Given the description of an element on the screen output the (x, y) to click on. 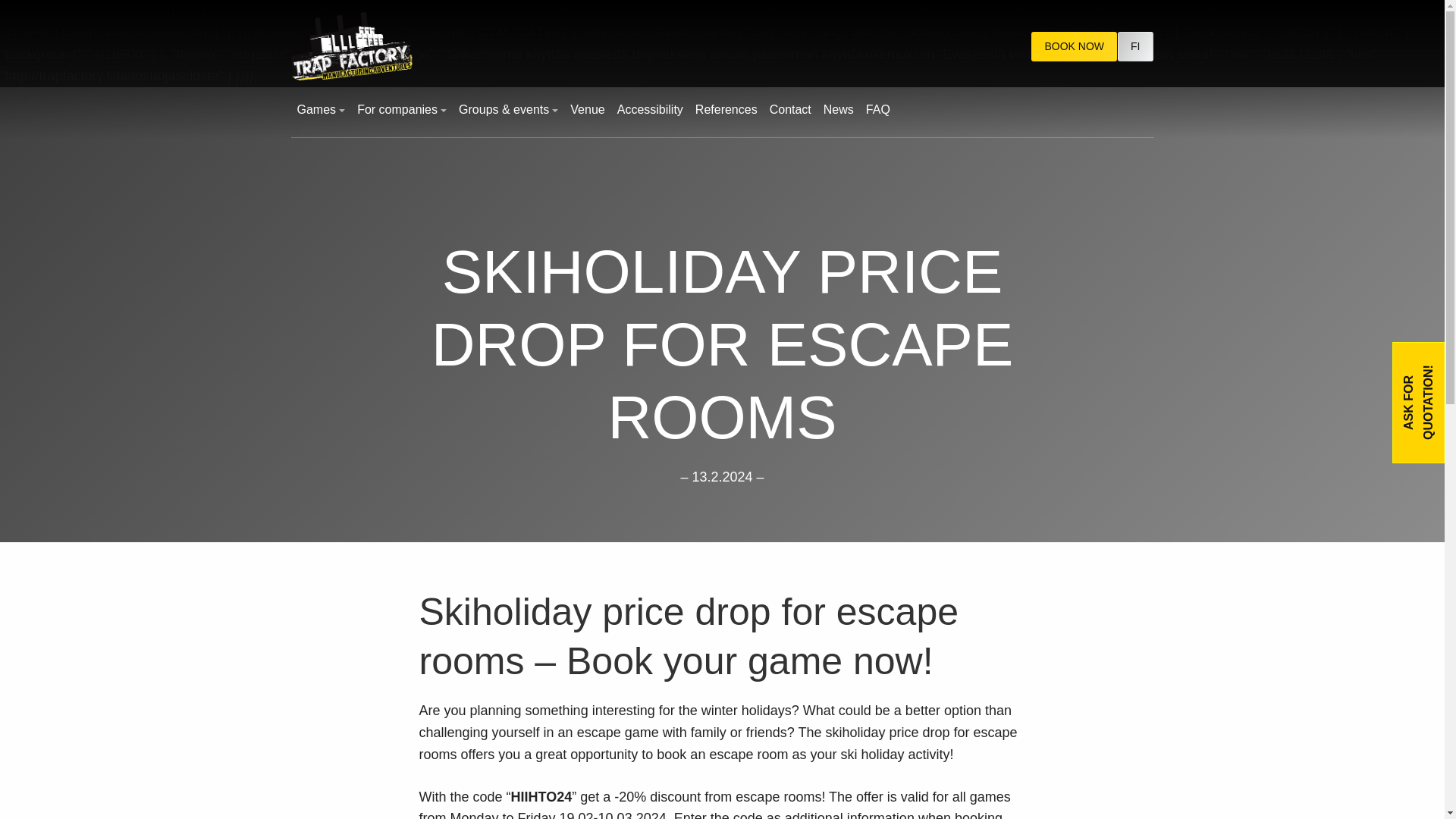
News (838, 110)
References (725, 110)
For companies (401, 110)
Accessibility (649, 110)
Games (321, 110)
FAQ (878, 110)
BOOK NOW (1073, 46)
FI (1135, 46)
Contact (789, 110)
Book now (1073, 46)
Games (321, 110)
Venue (587, 110)
FI (1135, 46)
For companies (401, 110)
